Given the description of an element on the screen output the (x, y) to click on. 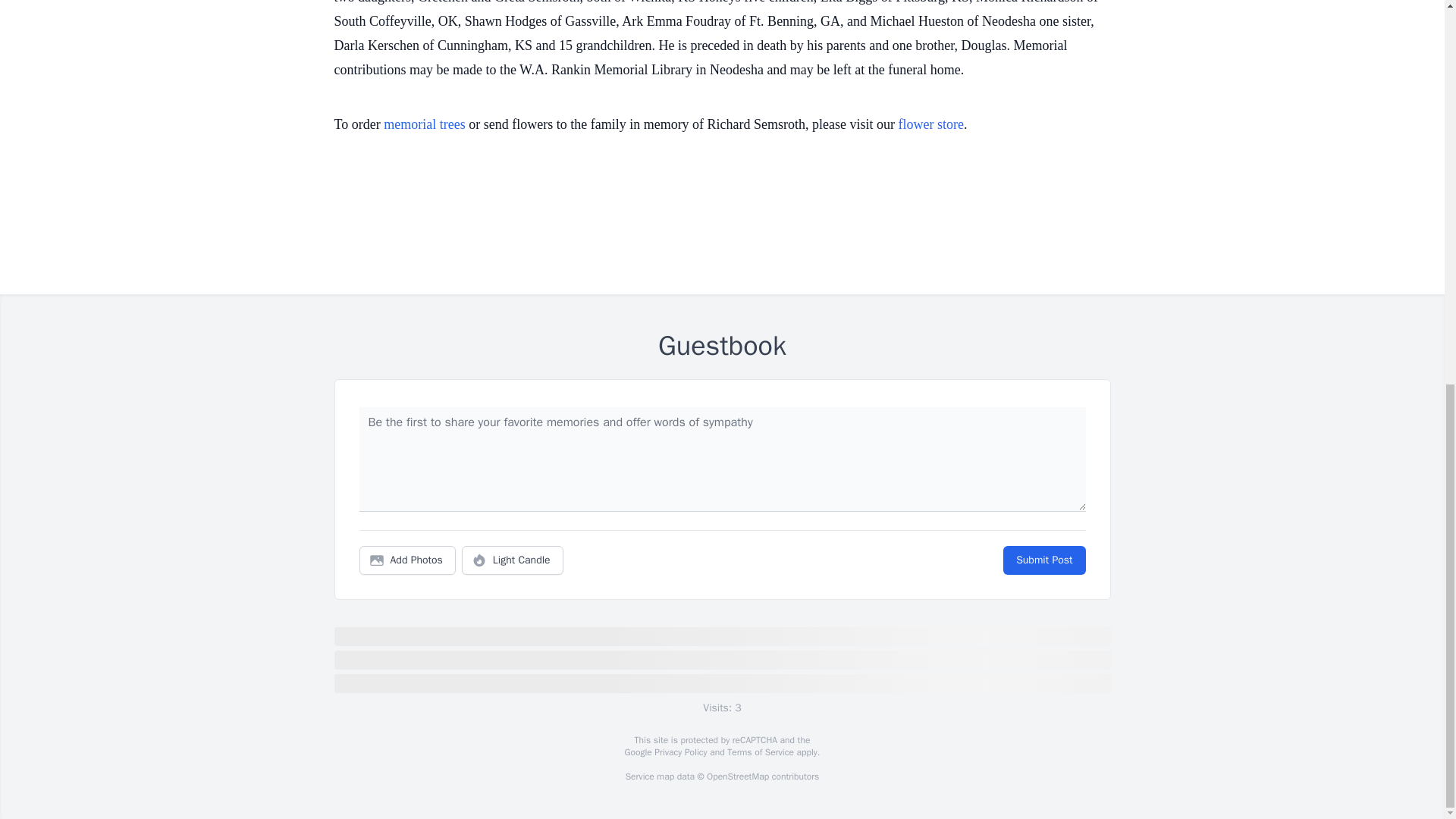
Light Candle (512, 560)
Terms of Service (759, 752)
memorial trees (424, 124)
flower store (930, 124)
Submit Post (1043, 560)
Privacy Policy (679, 752)
Add Photos (407, 560)
OpenStreetMap (737, 776)
